Given the description of an element on the screen output the (x, y) to click on. 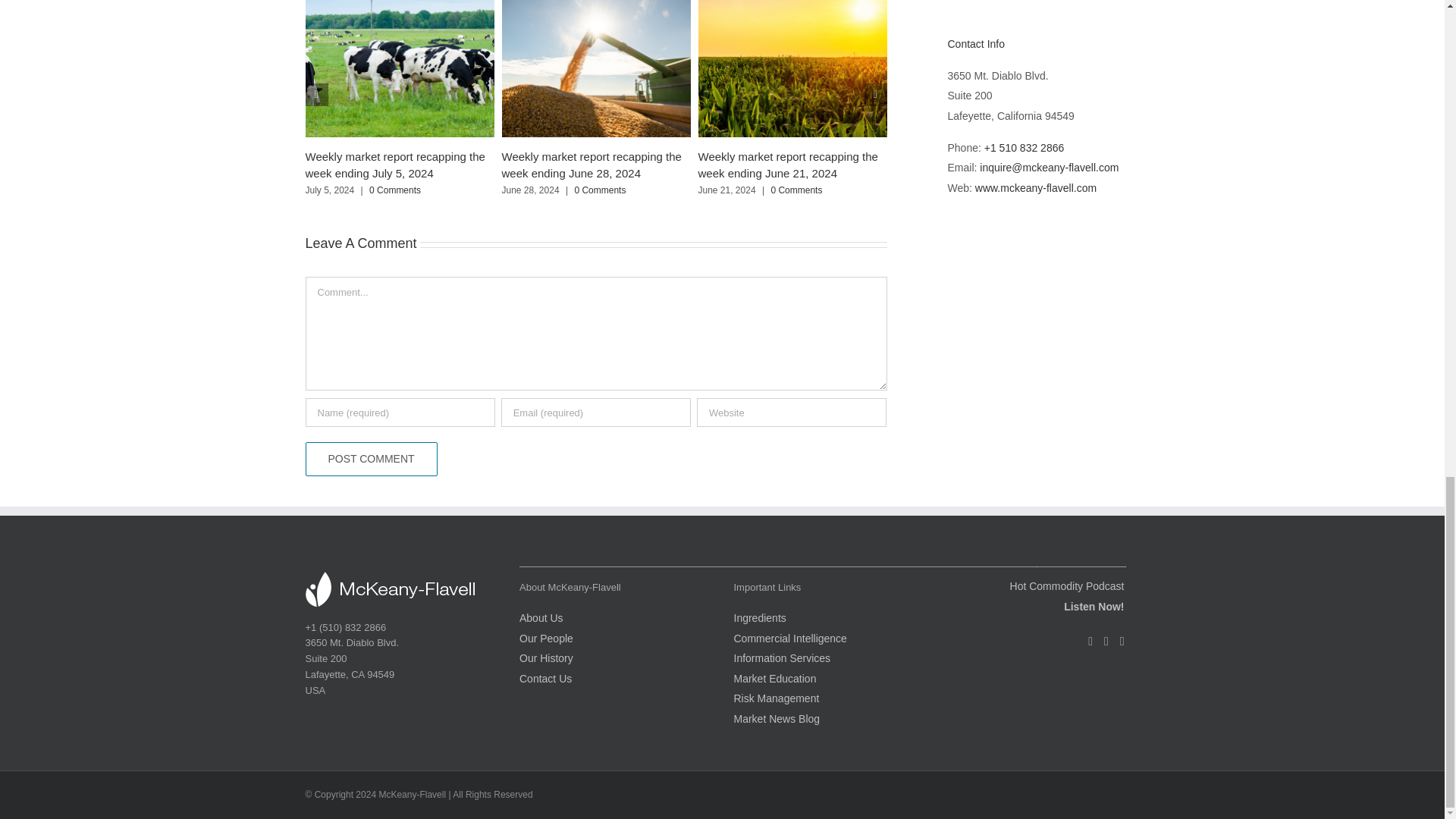
Weekly market report recapping the week ending June 21, 2024 (787, 164)
Weekly market report recapping the week ending June 28, 2024 (591, 164)
Weekly market report recapping the week ending July 5, 2024 (394, 164)
Post Comment (370, 458)
